Given the description of an element on the screen output the (x, y) to click on. 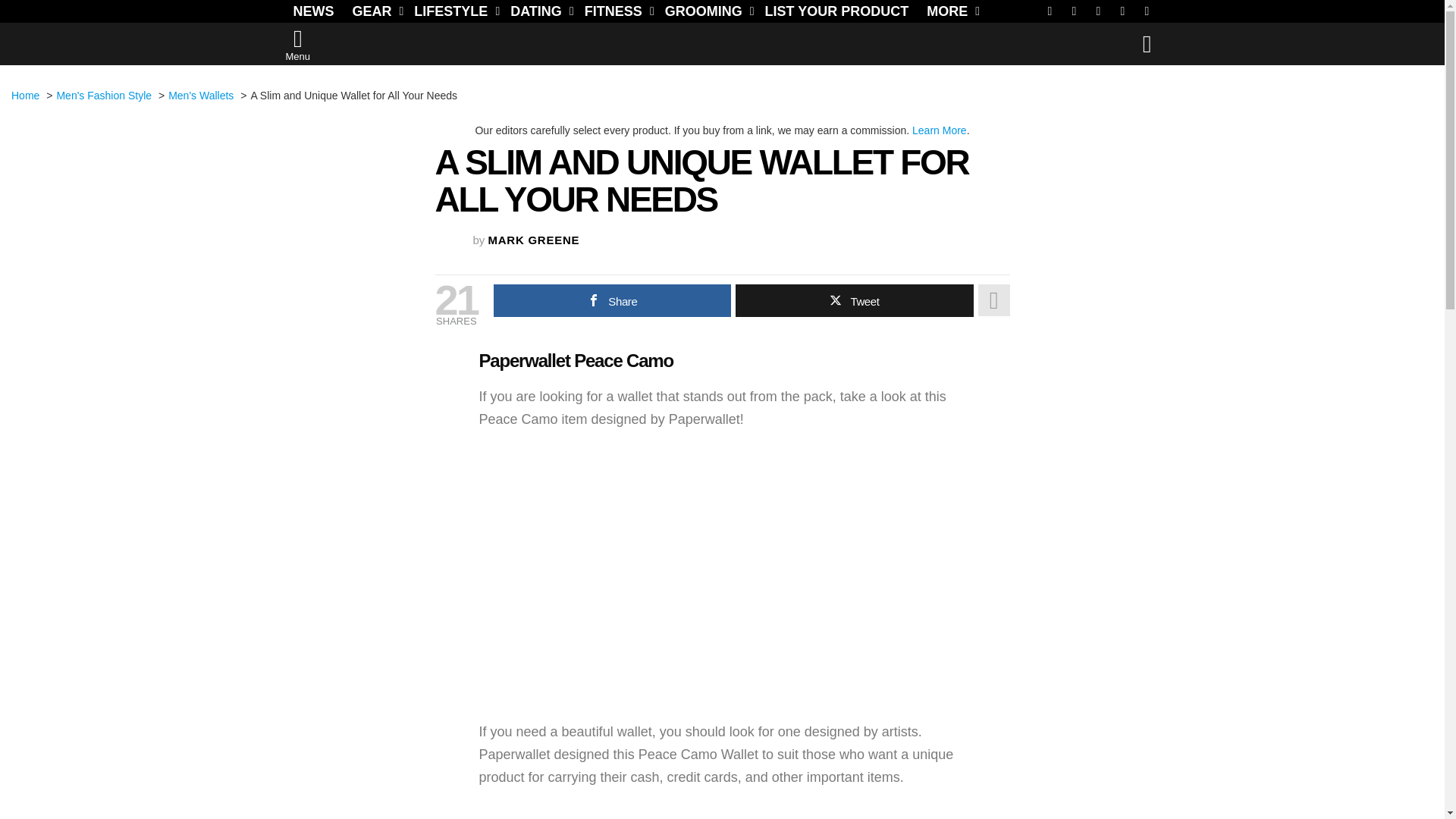
NEWS (312, 11)
GEAR (373, 11)
Posts by Mark Greene (533, 239)
DATING (537, 11)
LIFESTYLE (452, 11)
